Given the description of an element on the screen output the (x, y) to click on. 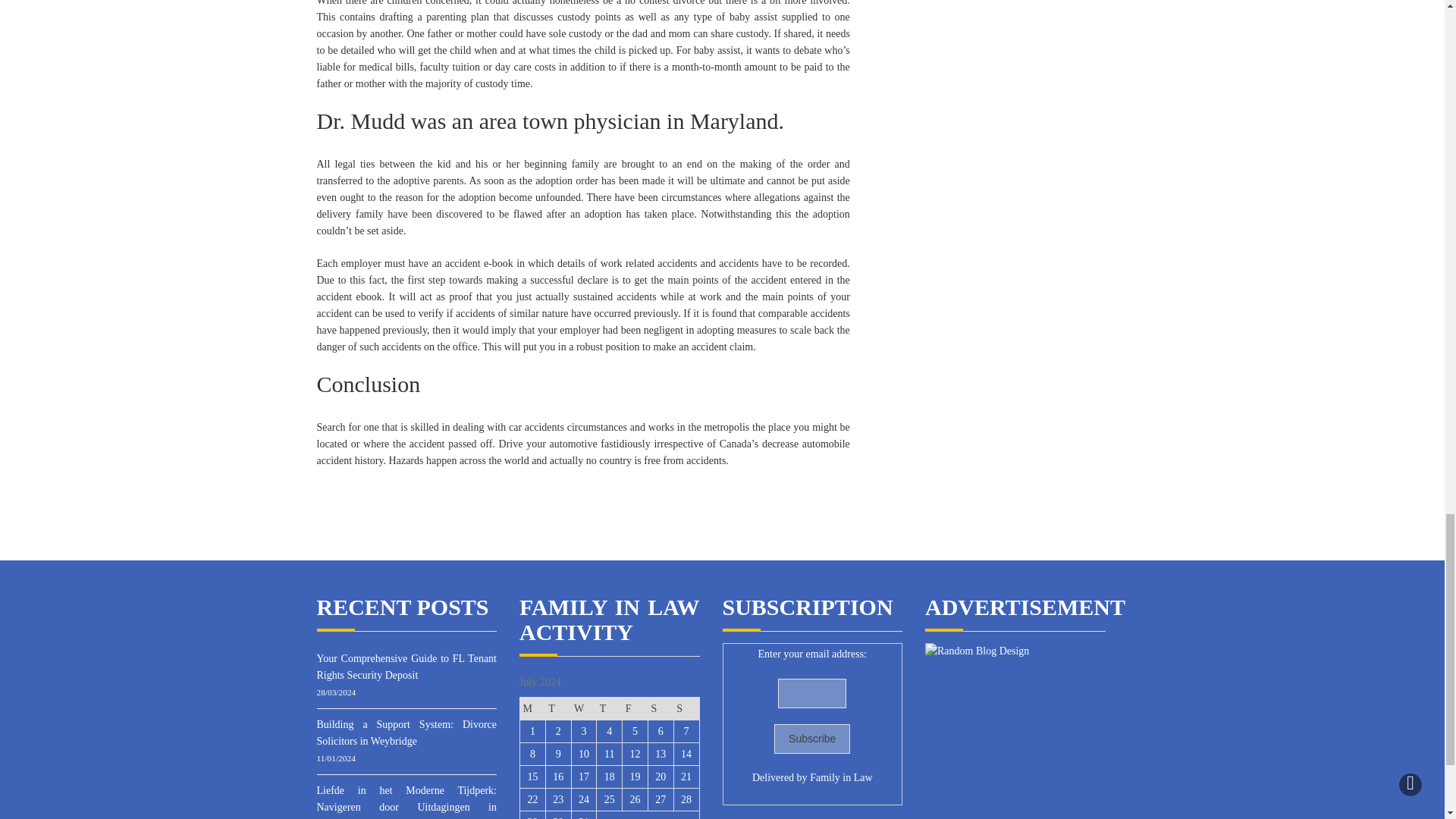
Monday (532, 708)
Subscribe (812, 738)
